Given the description of an element on the screen output the (x, y) to click on. 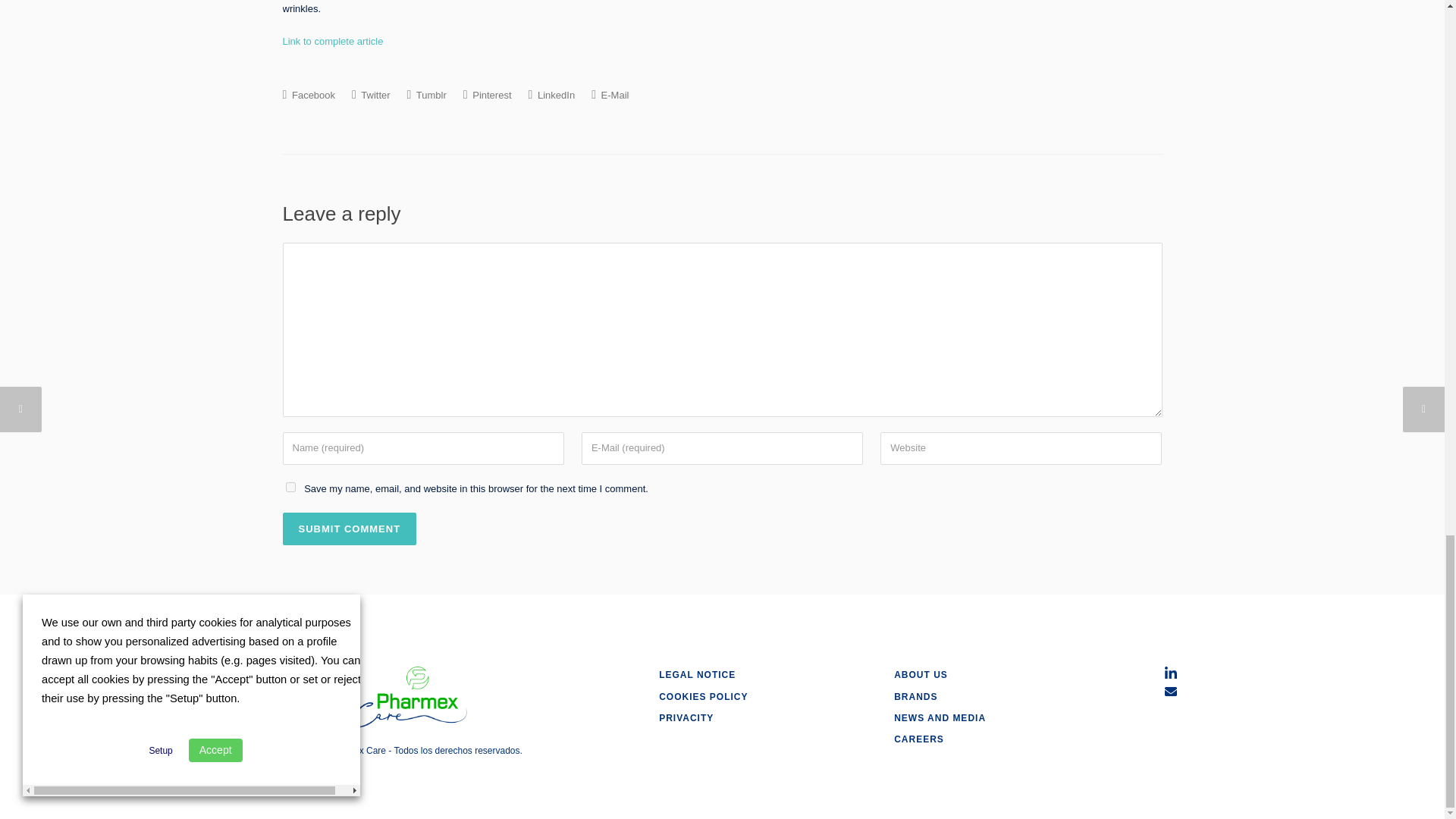
Tumblr (426, 94)
BRANDS (915, 696)
LEGAL NOTICE (697, 674)
yes (290, 487)
Submit Comment (349, 528)
COOKIES POLICY (703, 696)
LinkedIn (551, 94)
E-Mail (609, 94)
Facebook (308, 94)
Link to complete article (332, 41)
